Given the description of an element on the screen output the (x, y) to click on. 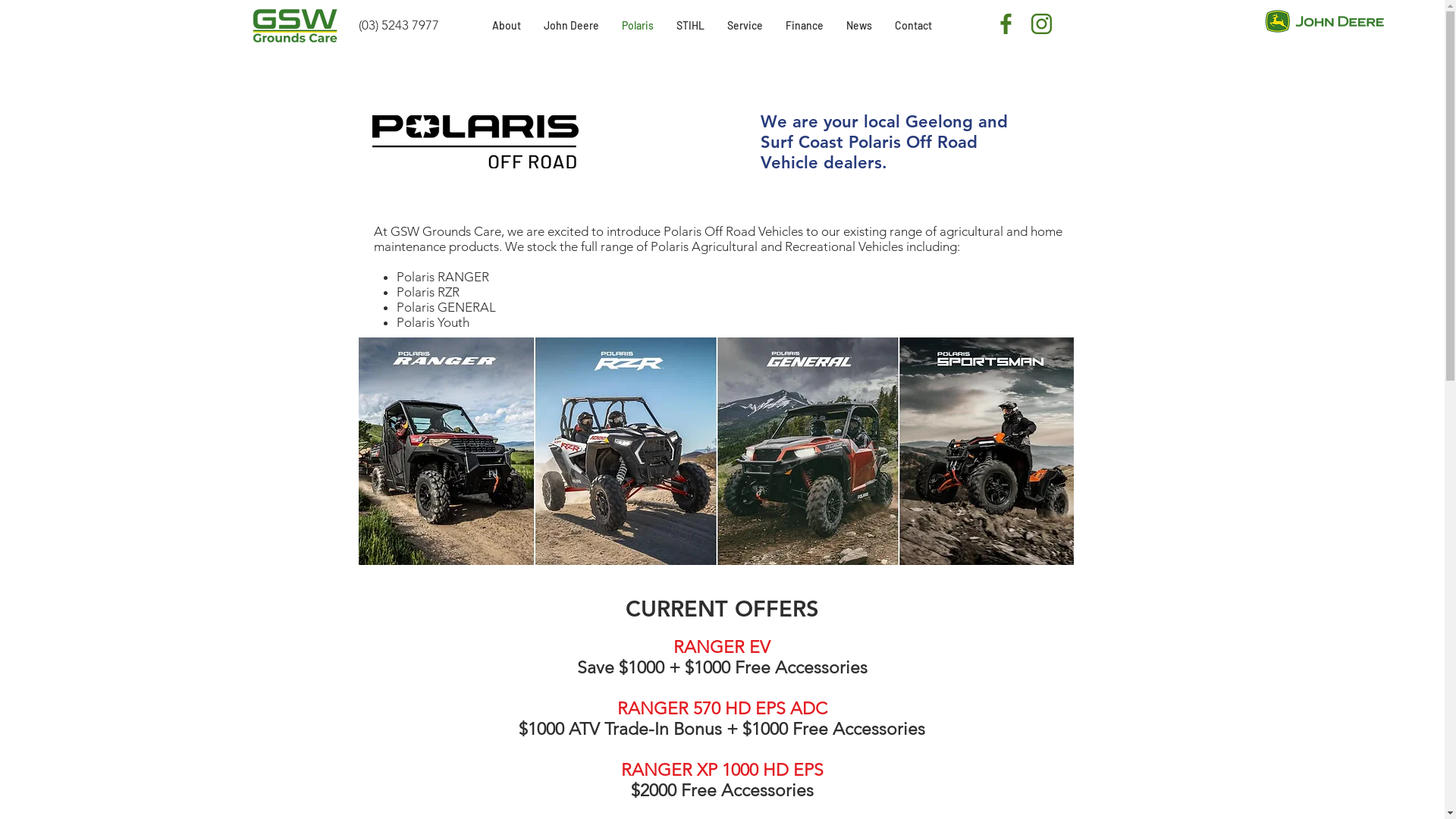
Finance Element type: text (803, 25)
Polaris Element type: text (636, 25)
John Deere Element type: text (571, 25)
Contact Element type: text (912, 25)
GSW Grounds Care logo -03 v2.png Element type: hover (294, 25)
STIHL Element type: text (689, 25)
News Element type: text (858, 25)
About Element type: text (506, 25)
Service Element type: text (744, 25)
